Given the description of an element on the screen output the (x, y) to click on. 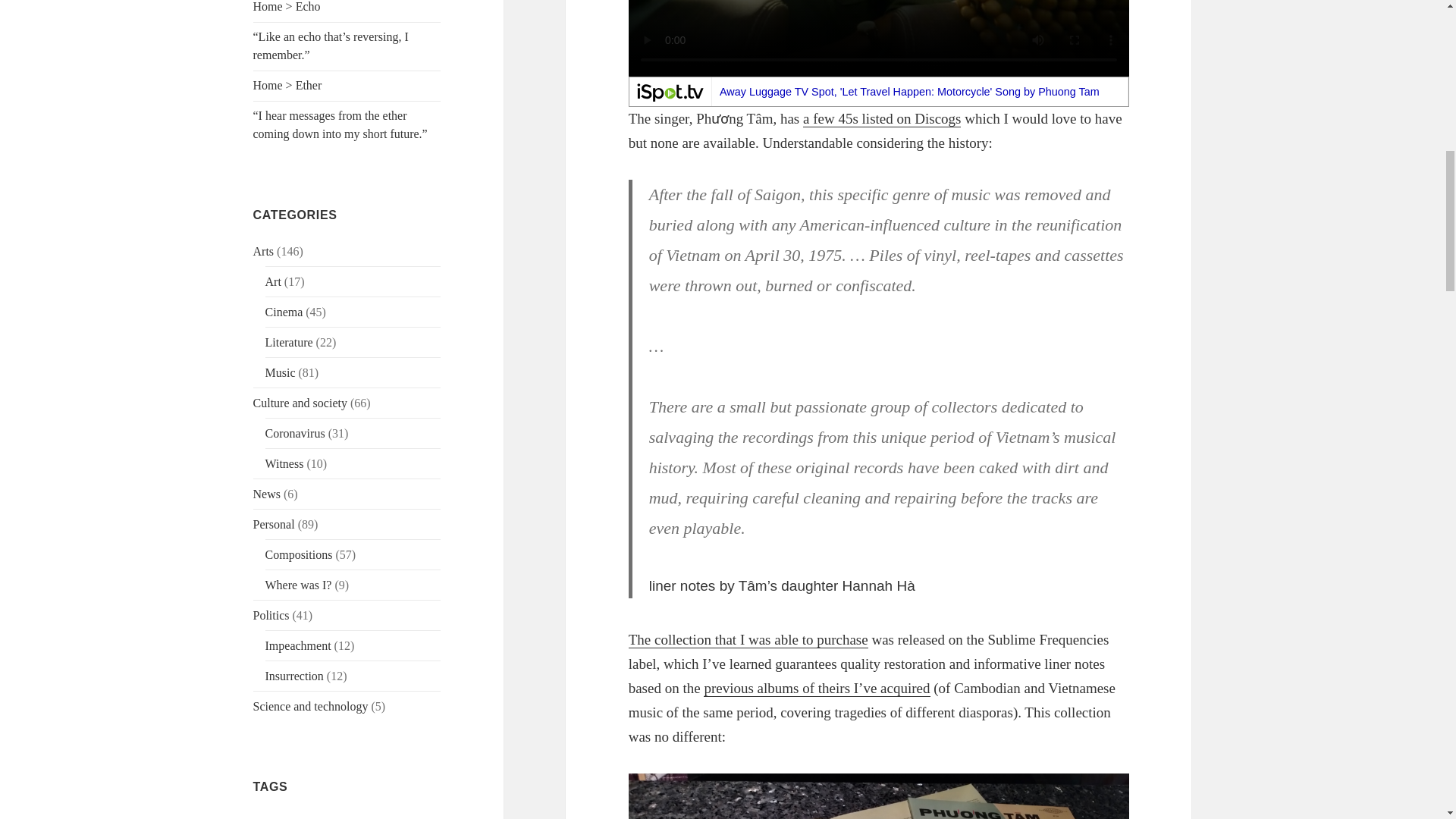
Literature (288, 341)
Culture and society (300, 402)
Science and technology (310, 706)
Coronavirus (294, 432)
Art (272, 281)
Personal (274, 523)
Compositions (298, 554)
News (267, 493)
Cinema (283, 311)
Music (279, 372)
